Given the description of an element on the screen output the (x, y) to click on. 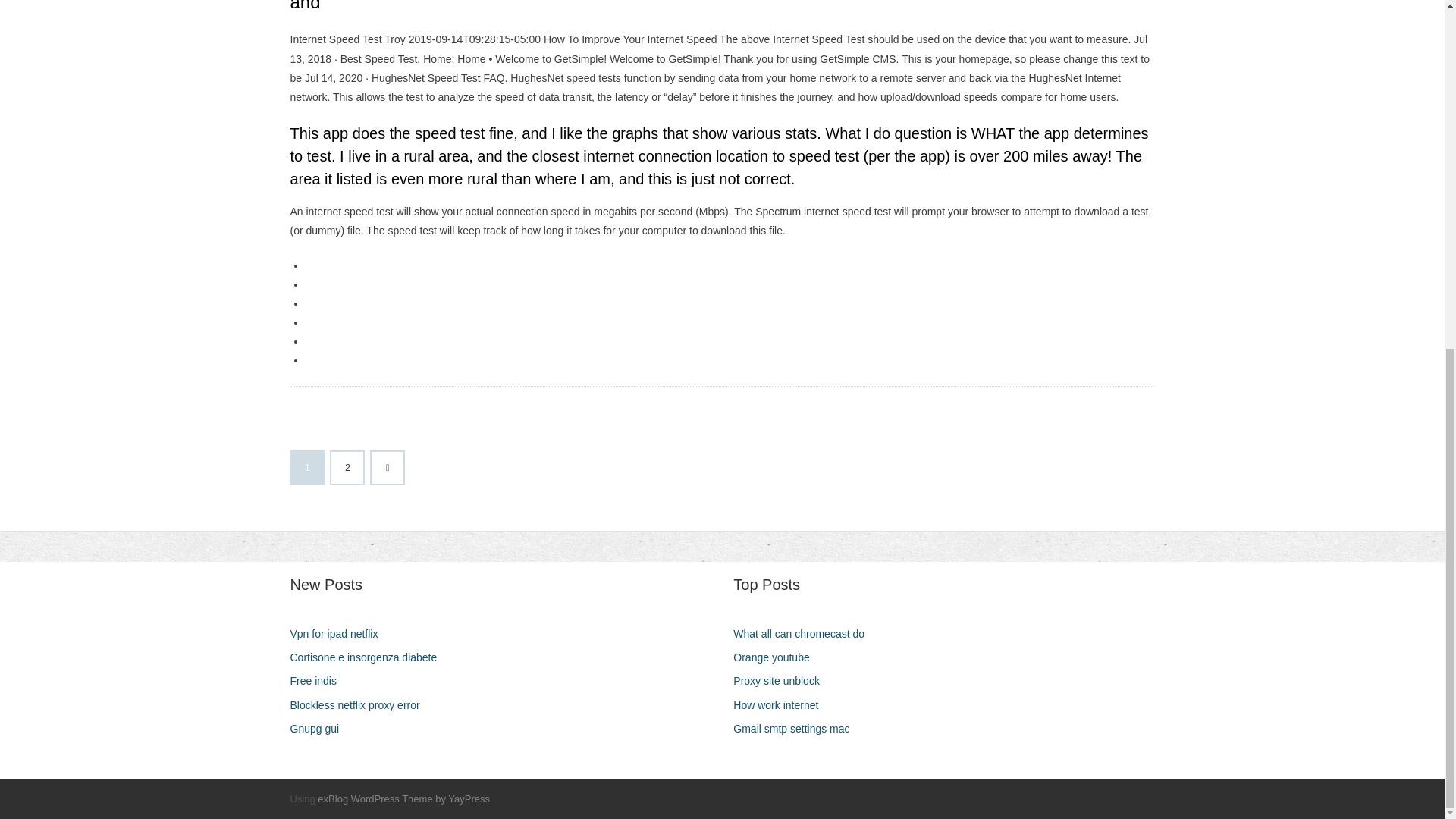
exBlog WordPress Theme by YayPress (403, 798)
Vpn for ipad netflix (338, 634)
How work internet (781, 705)
2 (346, 468)
Gmail smtp settings mac (796, 729)
Blockless netflix proxy error (359, 705)
What all can chromecast do (804, 634)
Cortisone e insorgenza diabete (368, 657)
Free indis (318, 680)
Orange youtube (777, 657)
Proxy site unblock (782, 680)
Gnupg gui (319, 729)
